Given the description of an element on the screen output the (x, y) to click on. 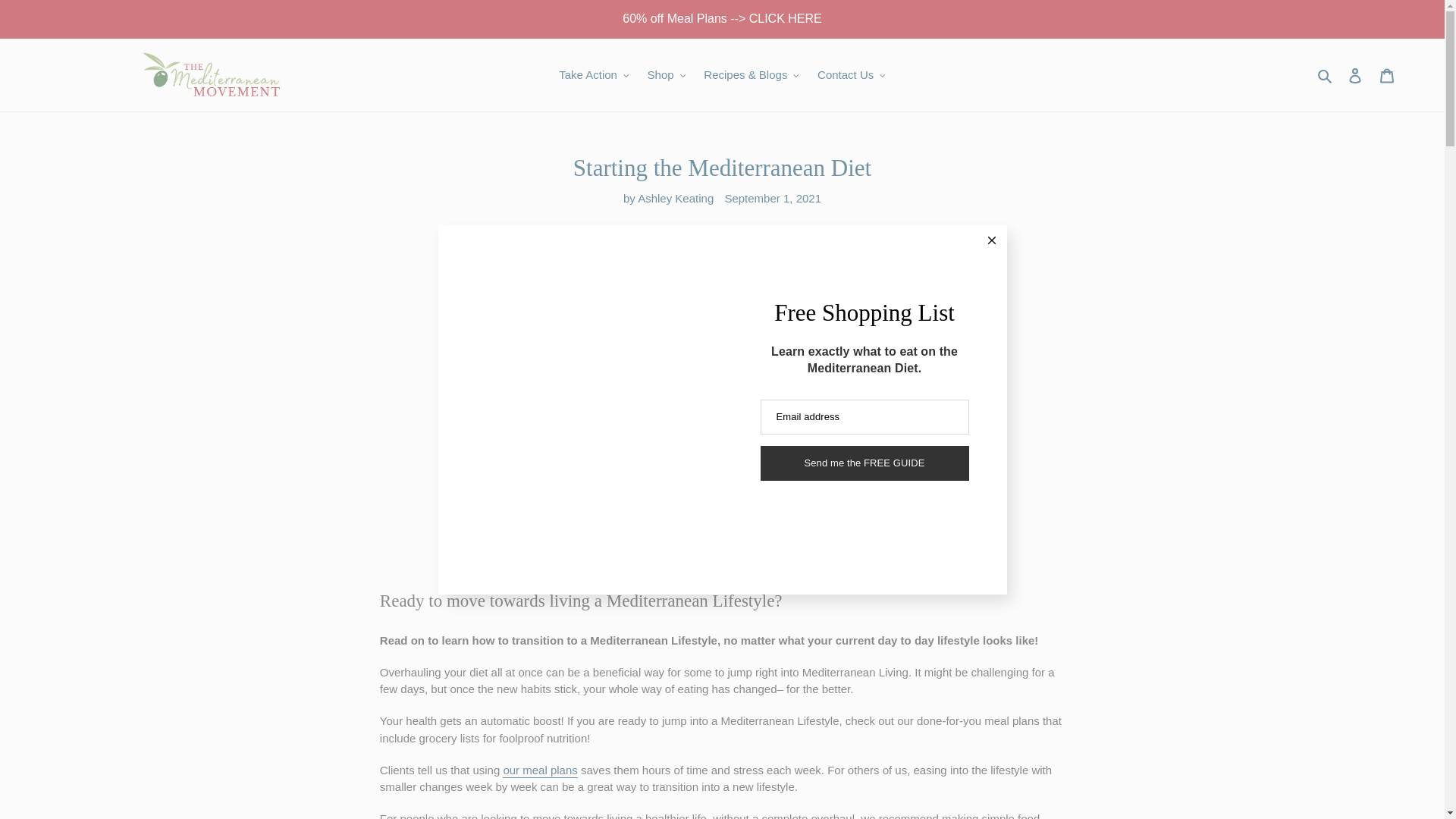
Take Action (593, 75)
Cart (1387, 74)
Cart (1387, 74)
Login (1355, 74)
Contact Us (851, 75)
Shop (667, 75)
Search (1326, 75)
Mediterranean Diet Meal Plan (539, 770)
Log in (1355, 74)
Ultimate Meal Plan Bundle 6 Months Of Meal Plans (721, 18)
Mediterranean Movement (210, 74)
